Given the description of an element on the screen output the (x, y) to click on. 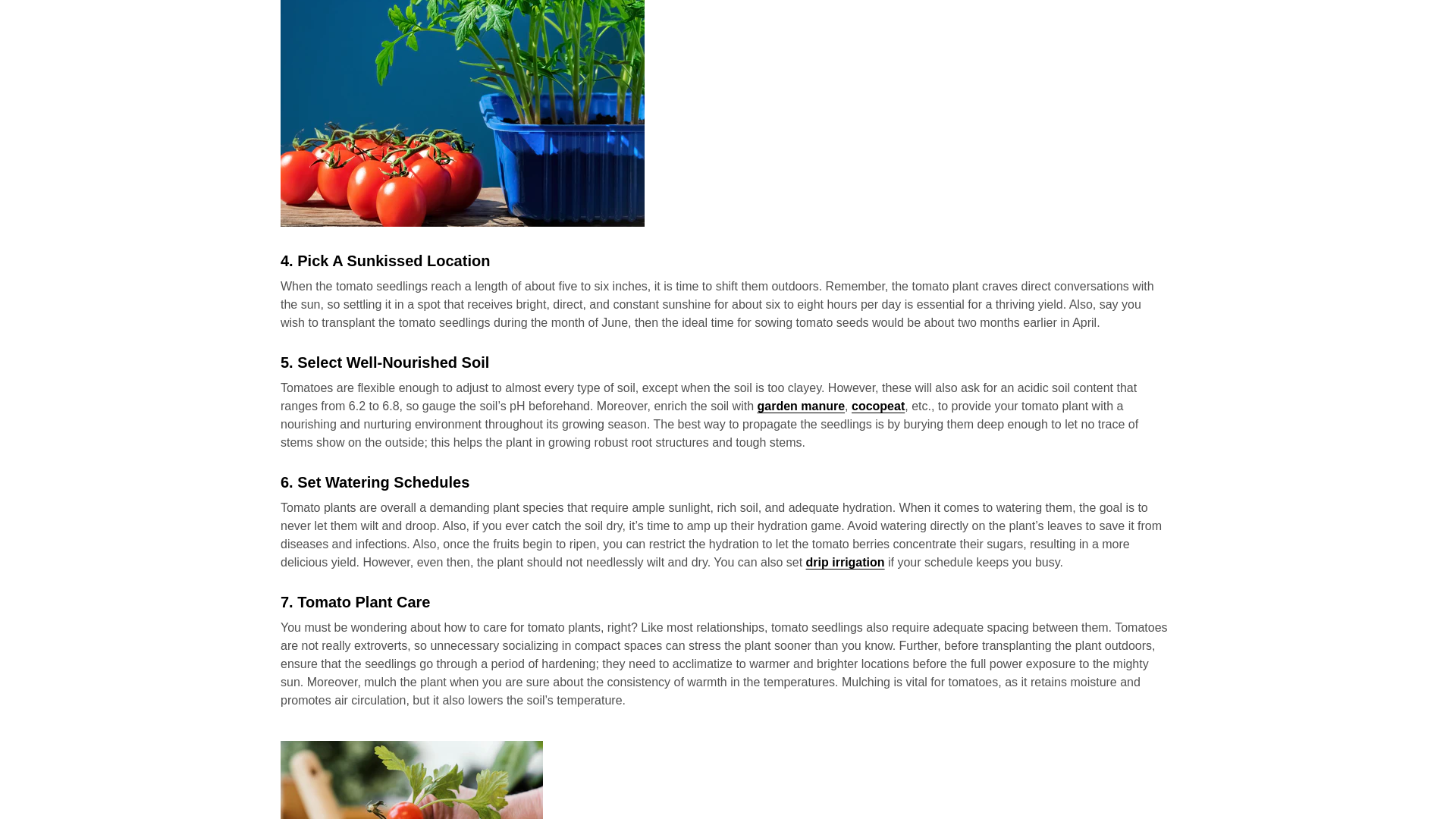
Drip Irrigation (845, 562)
drip irrigation (845, 562)
Cocopeat (877, 405)
cocopeat (877, 405)
garden manure (801, 405)
Garden Manure (801, 405)
